Given the description of an element on the screen output the (x, y) to click on. 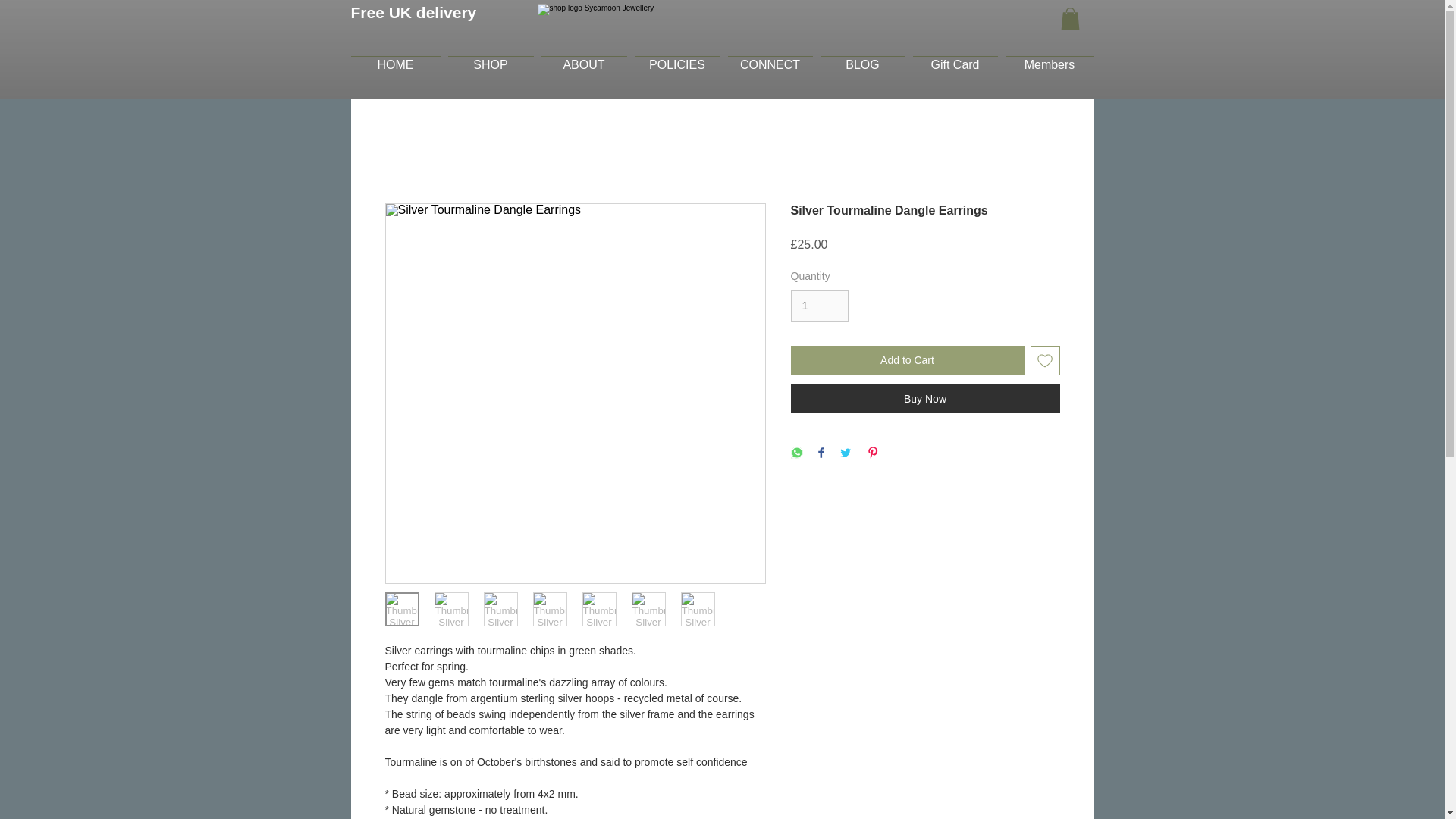
Add to Cart (906, 360)
Members (1047, 65)
POLICIES (676, 65)
Buy Now (924, 398)
SHOP (490, 65)
BLOG (861, 65)
CONNECT (769, 65)
Gift Card (954, 65)
1 (818, 305)
HOME (397, 65)
